Given the description of an element on the screen output the (x, y) to click on. 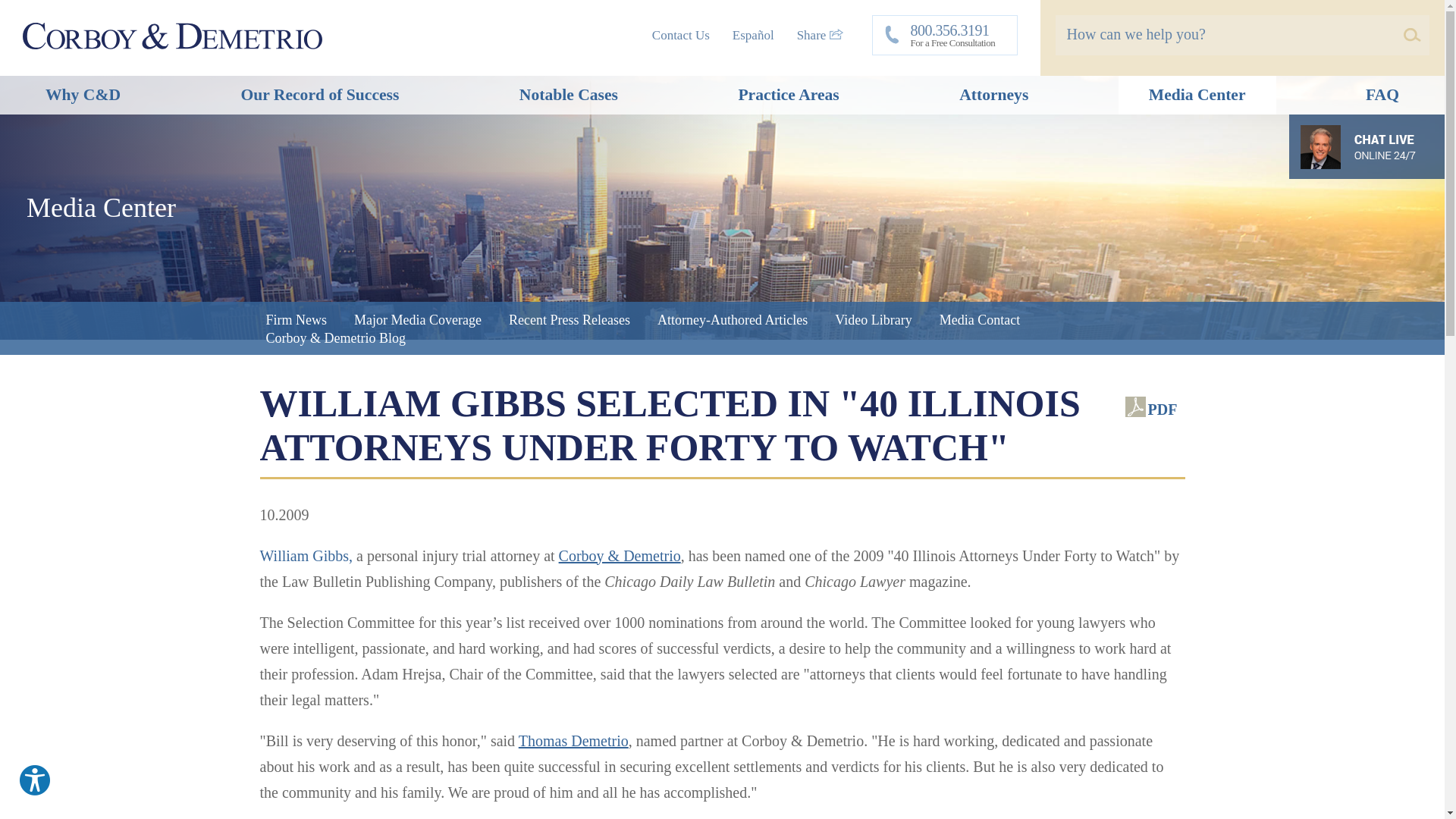
PDF (1151, 409)
Video Library (872, 319)
Attorney-Authored Articles (944, 35)
Share (732, 319)
Firm News (819, 34)
Major Media Coverage (295, 319)
Recent Press Releases (417, 319)
Contact Us (569, 319)
William Gibbs, (681, 34)
Attorney William Gibbs (305, 555)
Our Record of Success (305, 555)
Media Contact (319, 95)
Attorney Thomas Demetrio (979, 319)
Thomas Demetrio (573, 740)
